Given the description of an element on the screen output the (x, y) to click on. 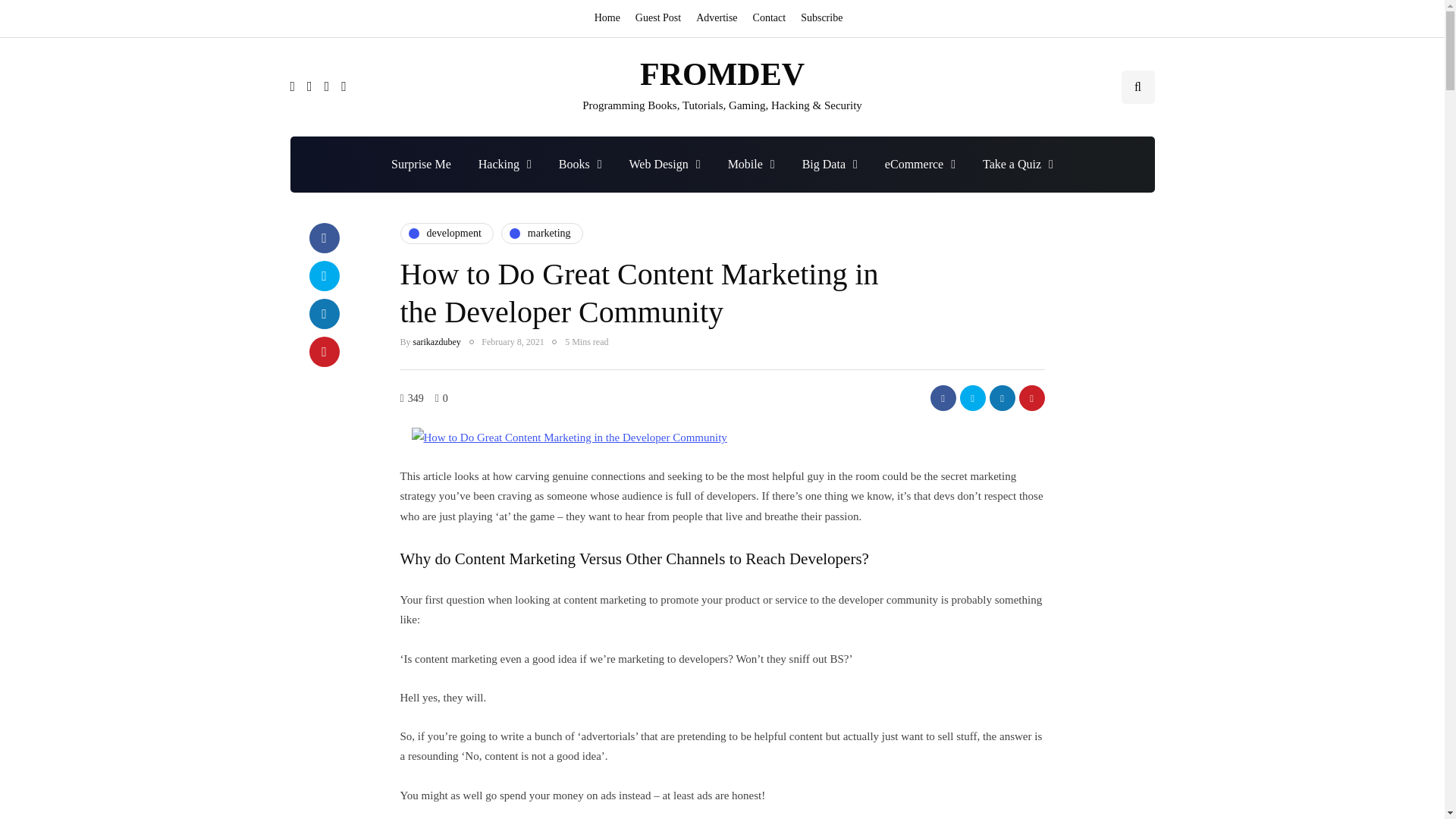
Subscribe (821, 18)
Advertise (716, 18)
Mobile (751, 163)
Surprise Me (420, 163)
FROMDEV (722, 73)
Hacking (504, 163)
Web Design (664, 163)
Contact (769, 18)
Guest Post (657, 18)
Books (579, 163)
